Given the description of an element on the screen output the (x, y) to click on. 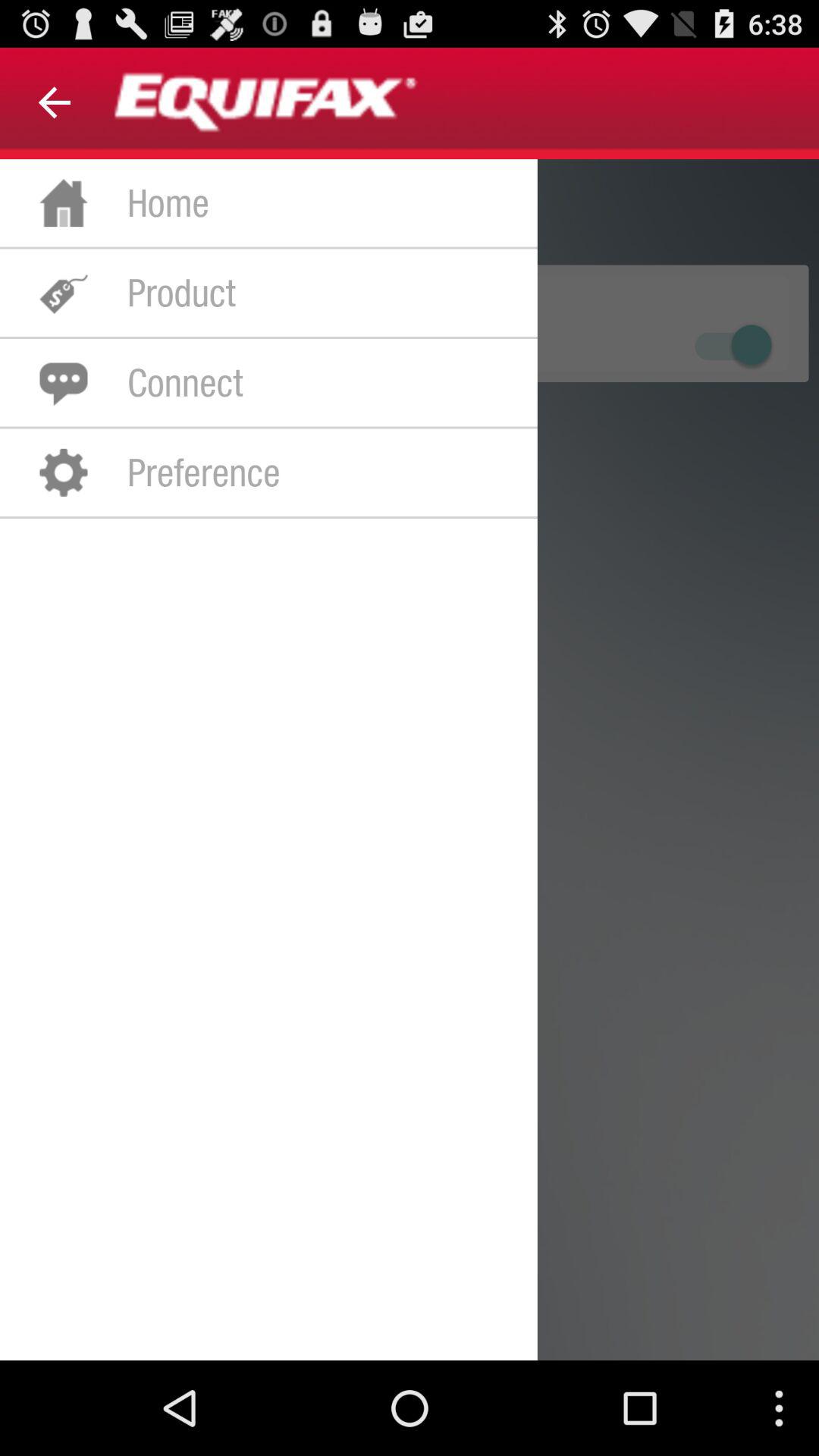
on (731, 344)
